Given the description of an element on the screen output the (x, y) to click on. 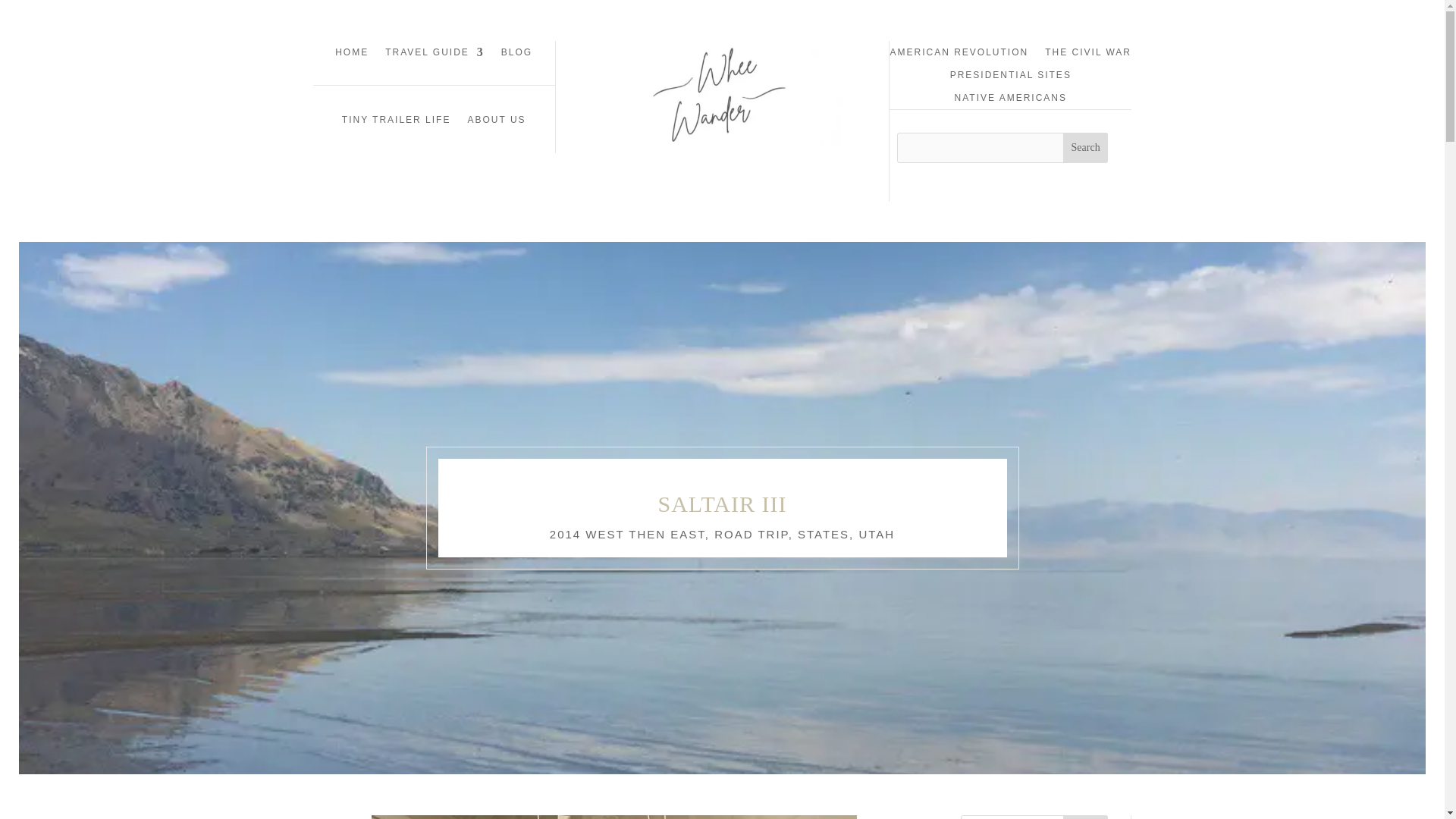
TINY TRAILER LIFE (396, 122)
ABOUT US (496, 122)
NATIVE AMERICANS (1011, 100)
Search (1085, 147)
THE CIVIL WAR (1088, 54)
TRAVEL GUIDE (434, 54)
Search (1085, 816)
AMERICAN REVOLUTION (959, 54)
HOME (351, 54)
PRESIDENTIAL SITES (1010, 77)
